Given the description of an element on the screen output the (x, y) to click on. 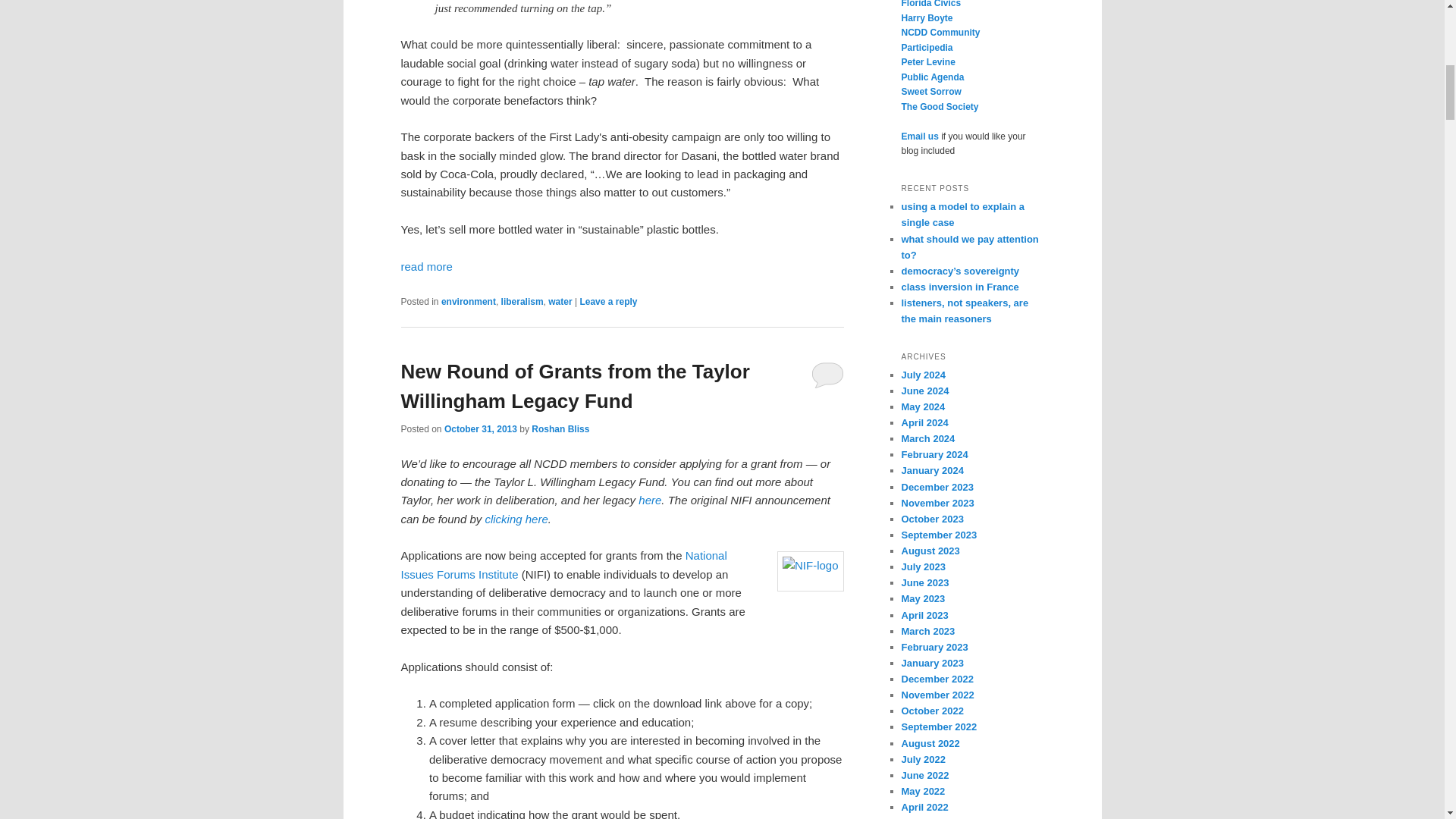
October 31, 2013 (480, 429)
View all posts in environment (468, 301)
water (560, 301)
New Round of Grants from the Taylor Willingham Legacy Fund (574, 386)
4:35 pm (480, 429)
Roshan Bliss (560, 429)
environment (468, 301)
View all posts in liberalism (521, 301)
National Issues Forums Institute (563, 563)
Leave a reply (608, 301)
clicking here (515, 518)
here (650, 499)
read more (425, 266)
View all posts in water (560, 301)
